Given the description of an element on the screen output the (x, y) to click on. 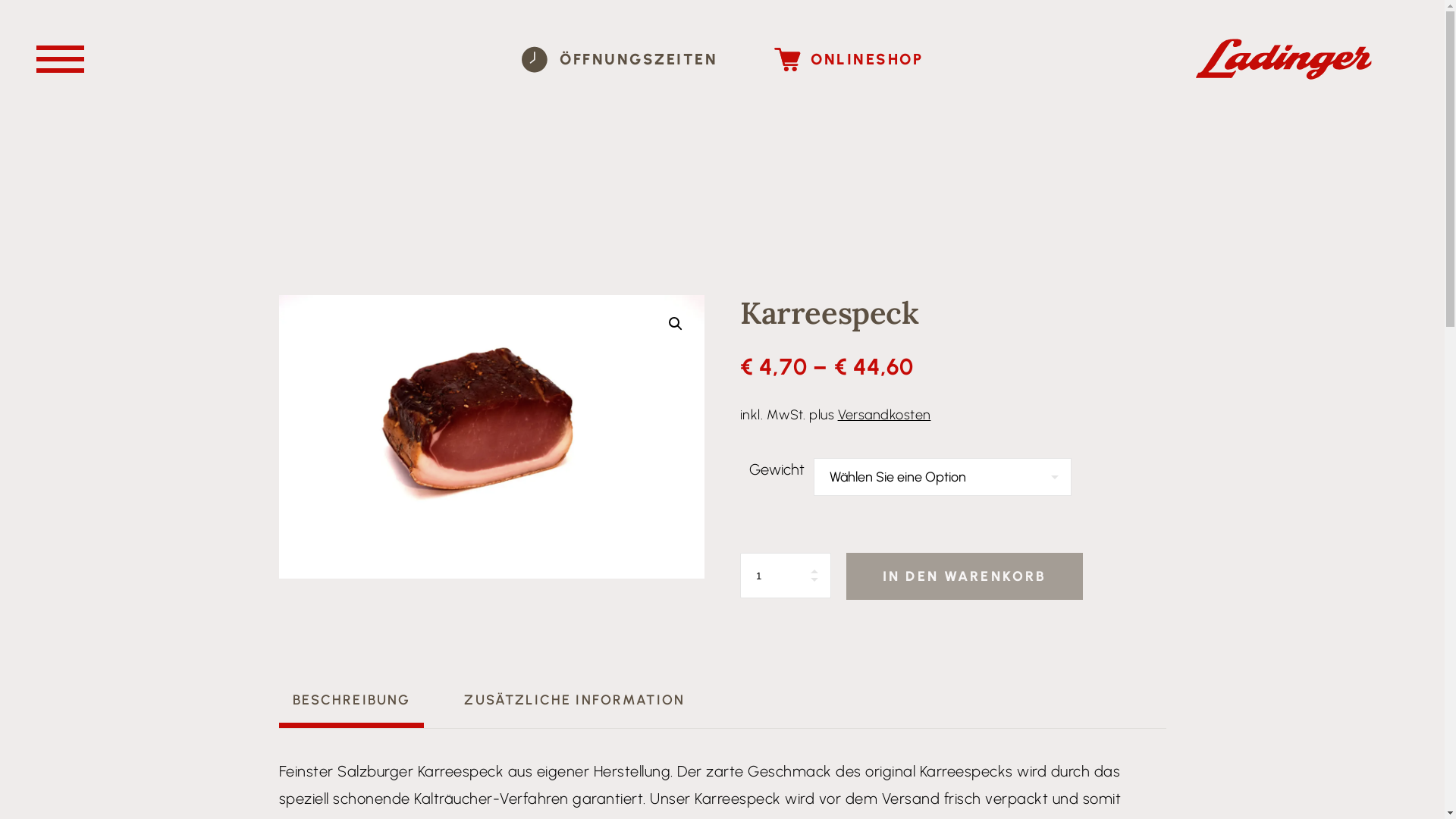
Qty Element type: hover (785, 575)
IN DEN WARENKORB Element type: text (964, 575)
Versandkosten Element type: text (884, 414)
ONLINESHOP Element type: text (848, 58)
BESCHREIBUNG Element type: text (351, 700)
Karreespeck Element type: hover (492, 436)
